Given the description of an element on the screen output the (x, y) to click on. 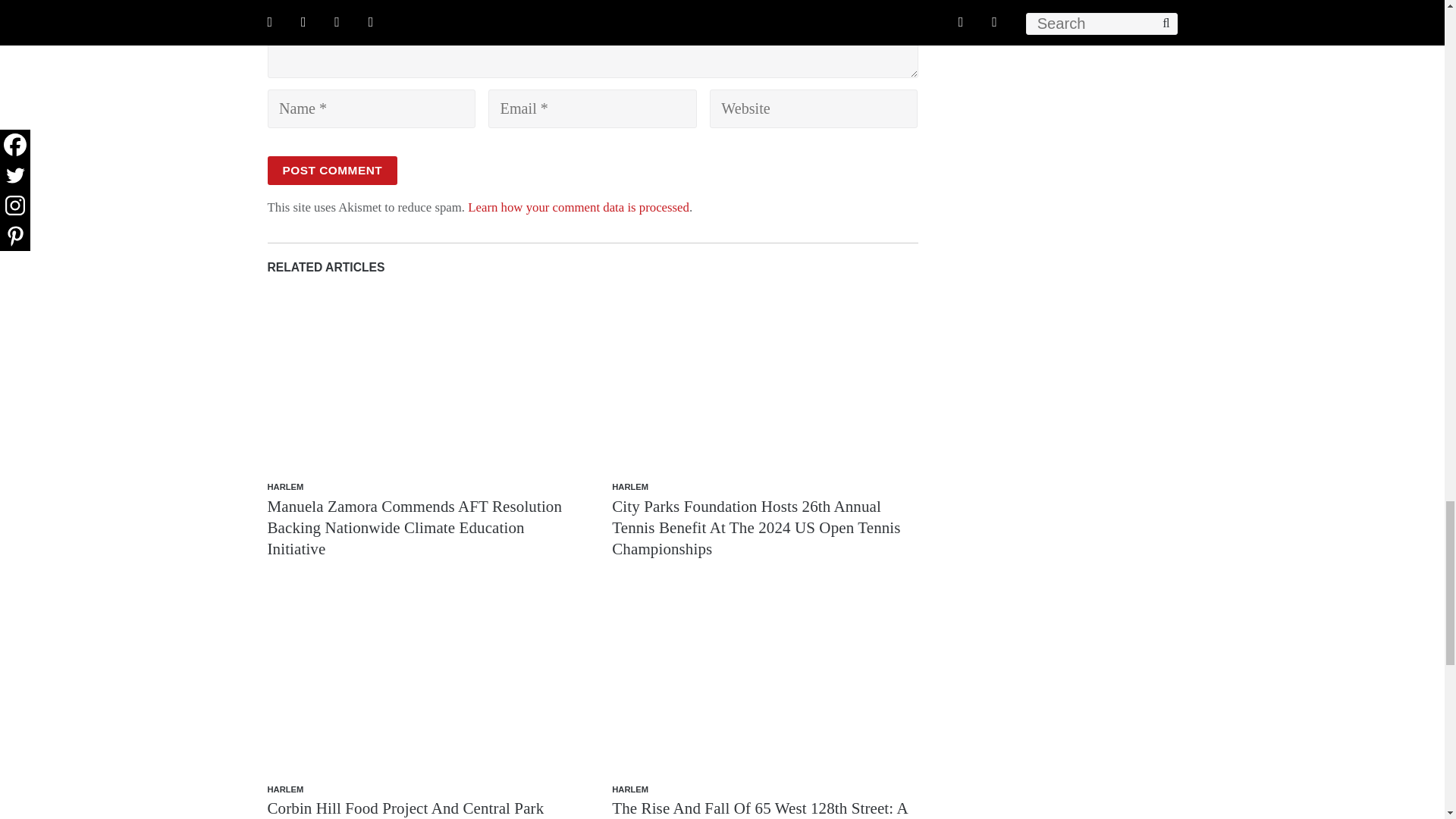
Post Comment (331, 170)
